Given the description of an element on the screen output the (x, y) to click on. 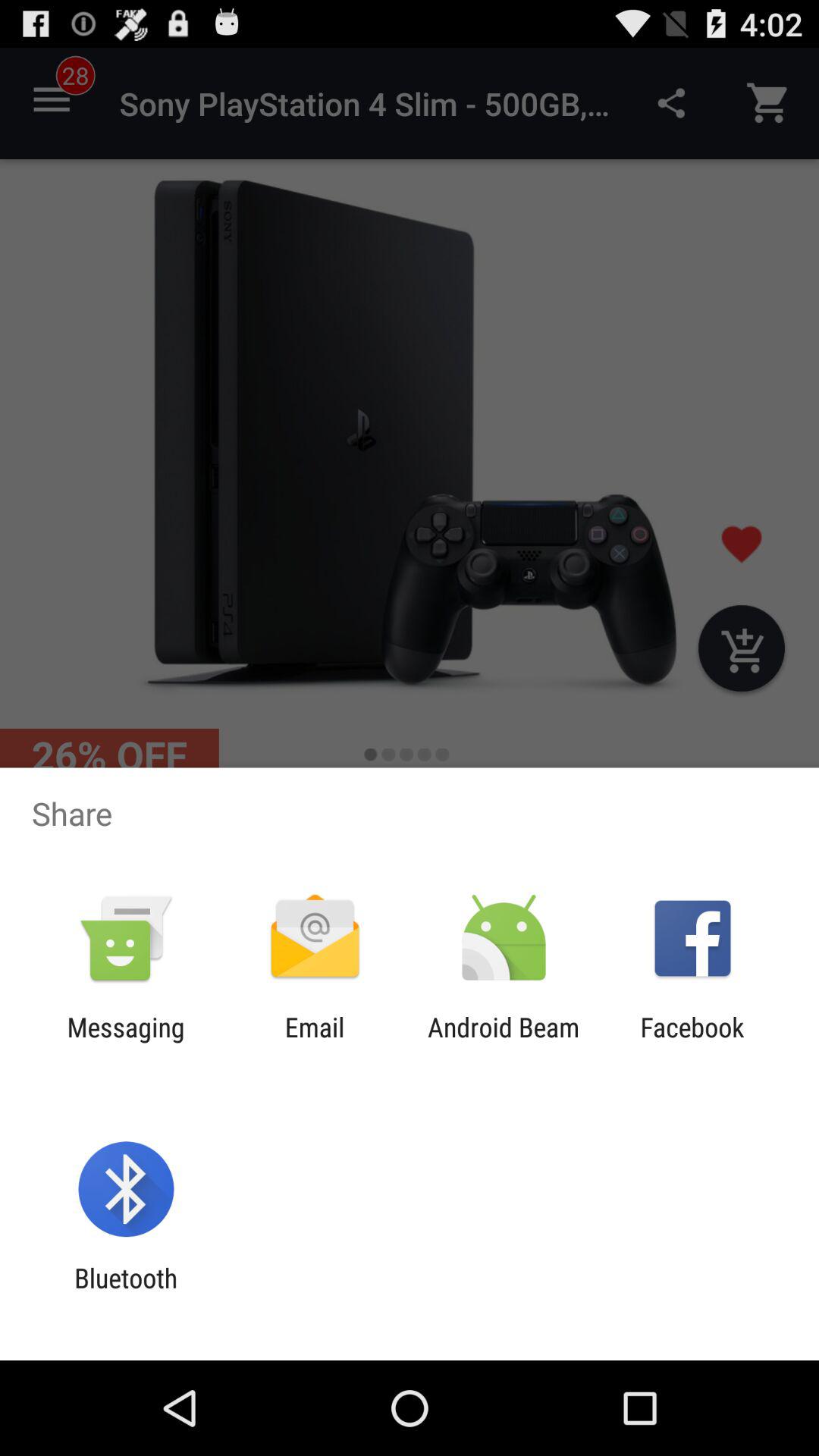
press icon next to messaging (314, 1042)
